Given the description of an element on the screen output the (x, y) to click on. 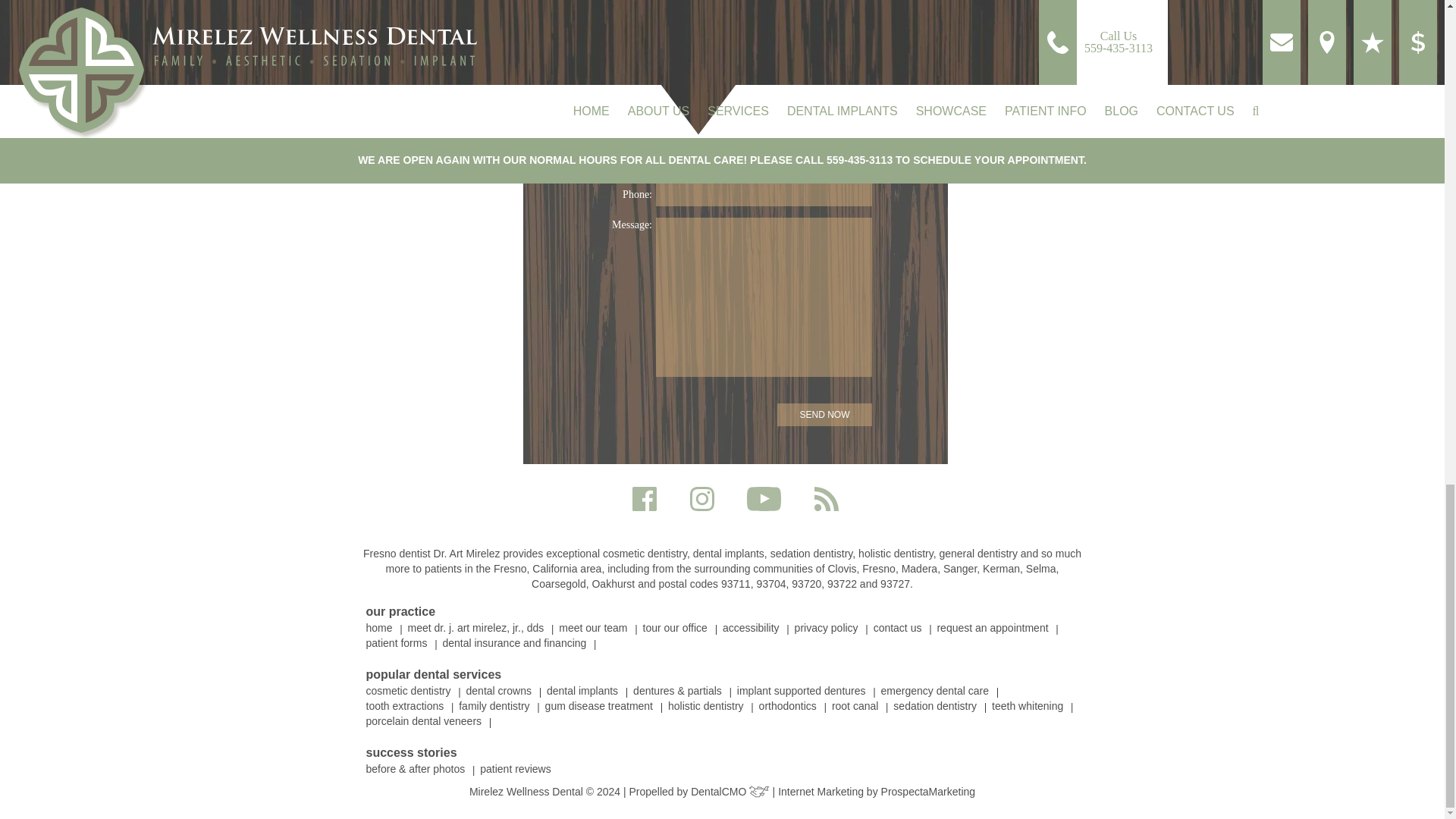
Internet Dental Marketing (927, 791)
RSS-black Created with Sketch. (825, 498)
Send Now (824, 414)
